Given the description of an element on the screen output the (x, y) to click on. 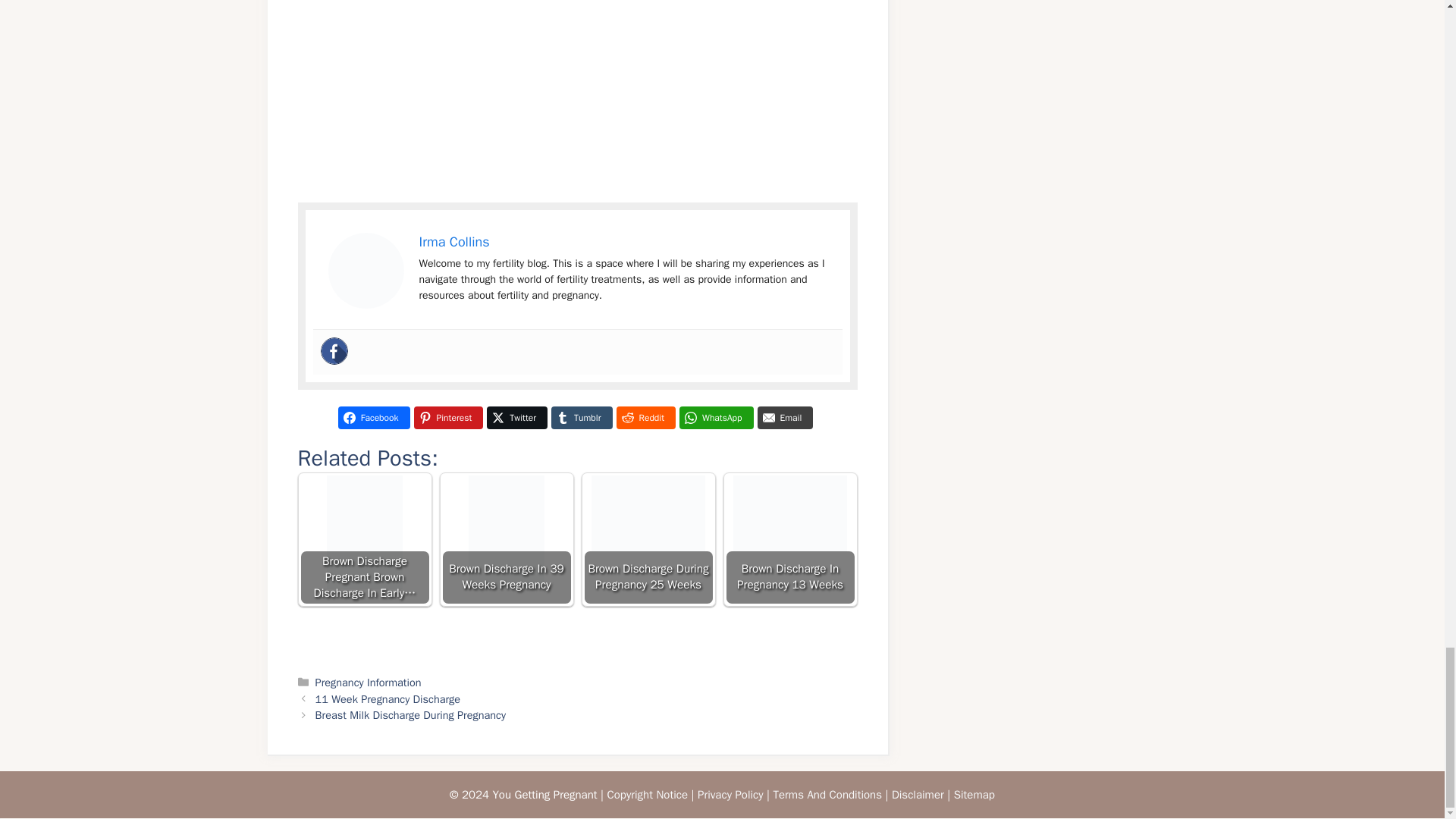
Pregnancy Information (368, 682)
Pinterest (448, 417)
Email (785, 417)
Share on Facebook (373, 417)
Brown Discharge During 10 Weeks Of Pregnancy (365, 270)
Share on Reddit (645, 417)
Brown Discharge During Pregnancy 25 Weeks (648, 539)
Share on Pinterest (448, 417)
Reddit (645, 417)
Share on Tumblr (581, 417)
